Given the description of an element on the screen output the (x, y) to click on. 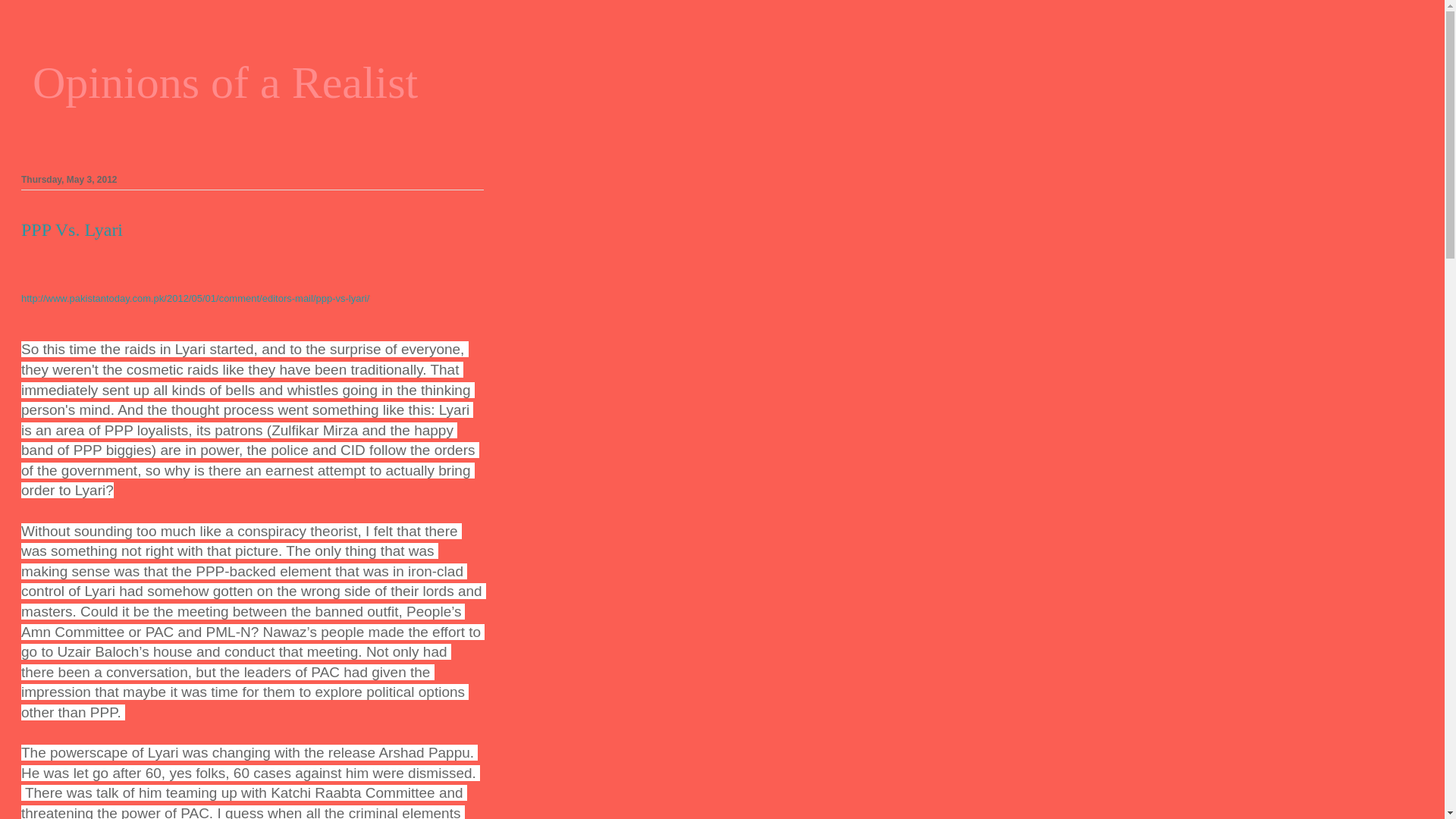
Opinions of a Realist (224, 82)
